Given the description of an element on the screen output the (x, y) to click on. 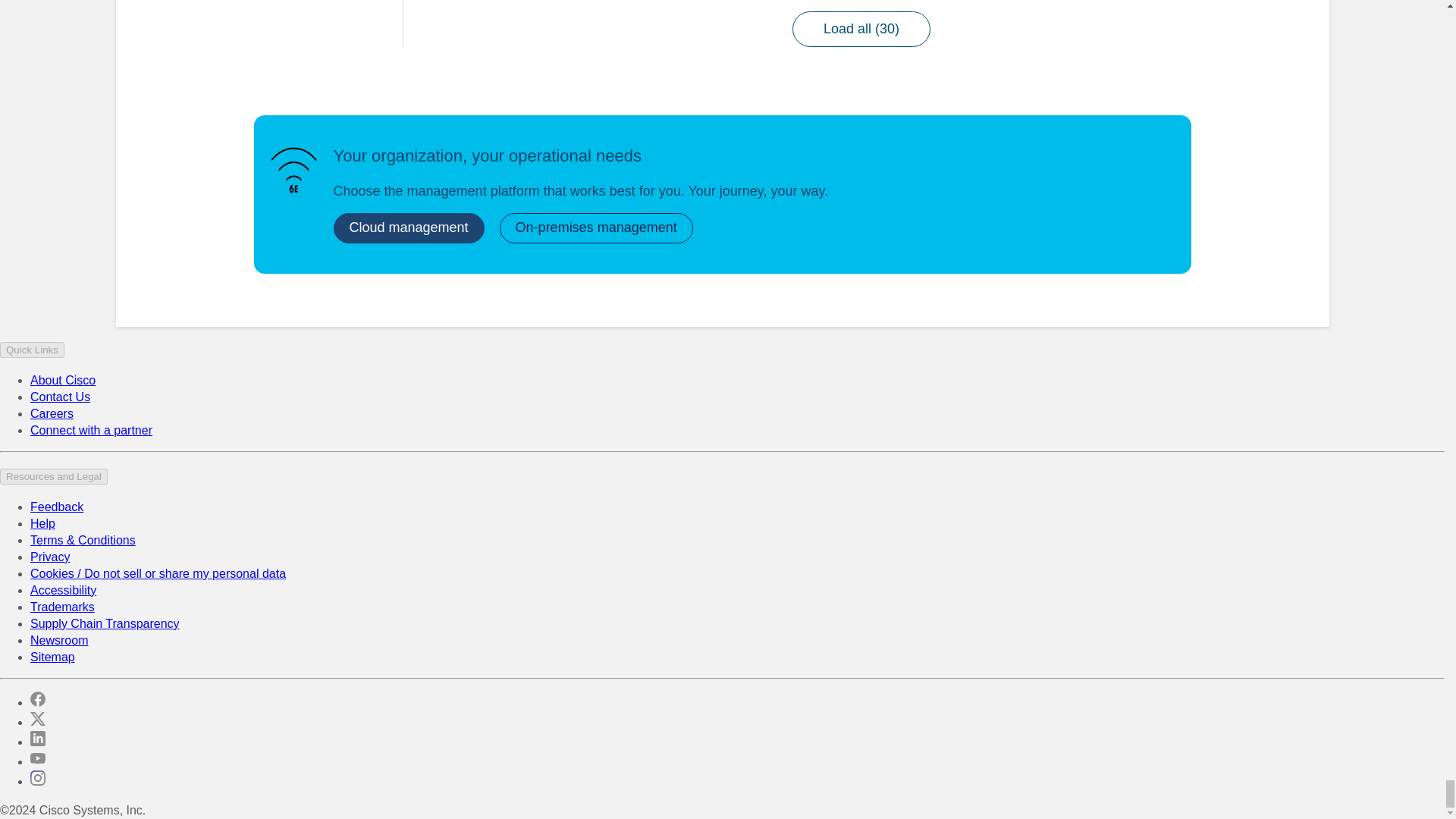
Your organization, your operational needs (292, 170)
